Given the description of an element on the screen output the (x, y) to click on. 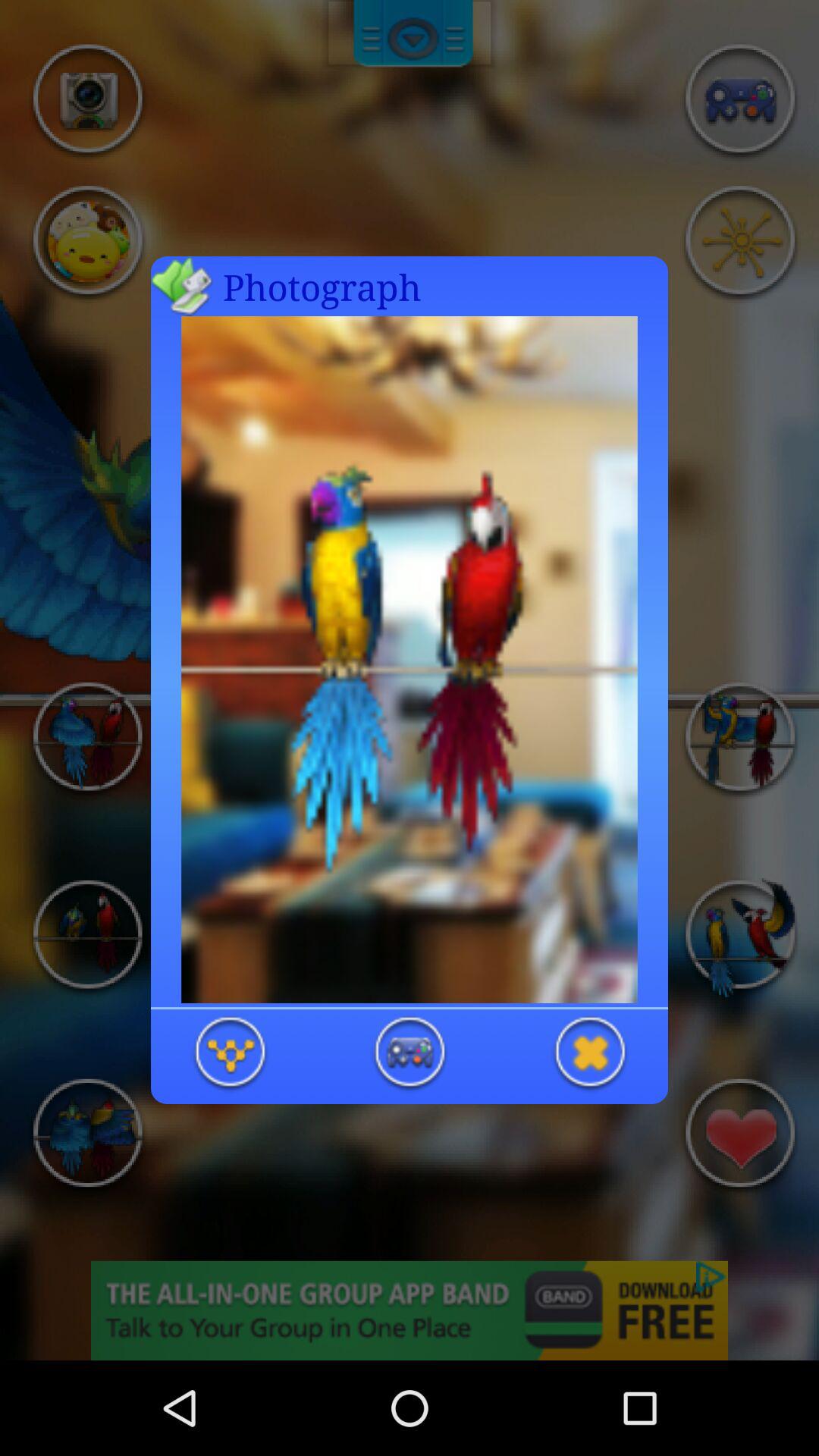
close (589, 1054)
